Given the description of an element on the screen output the (x, y) to click on. 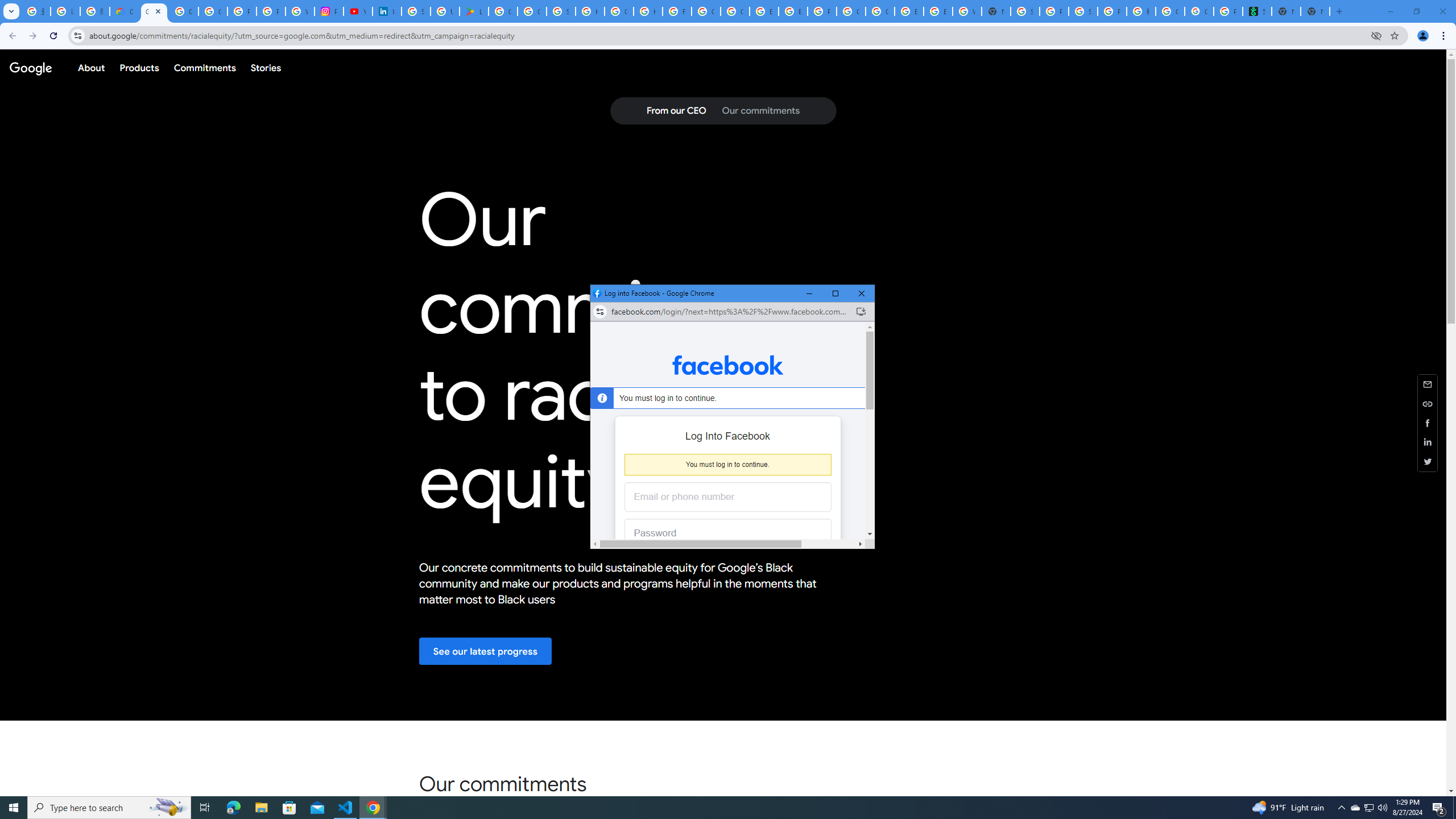
Search highlights icon opens search home window (167, 807)
Sign in - Google Accounts (1025, 11)
How do I create a new Google Account? - Google Account Help (648, 11)
File Explorer (261, 807)
From our CEO: Jump to page section (676, 110)
Task View (204, 807)
Stories (265, 67)
Password (719, 533)
Share this page (Copy) (1427, 403)
